Given the description of an element on the screen output the (x, y) to click on. 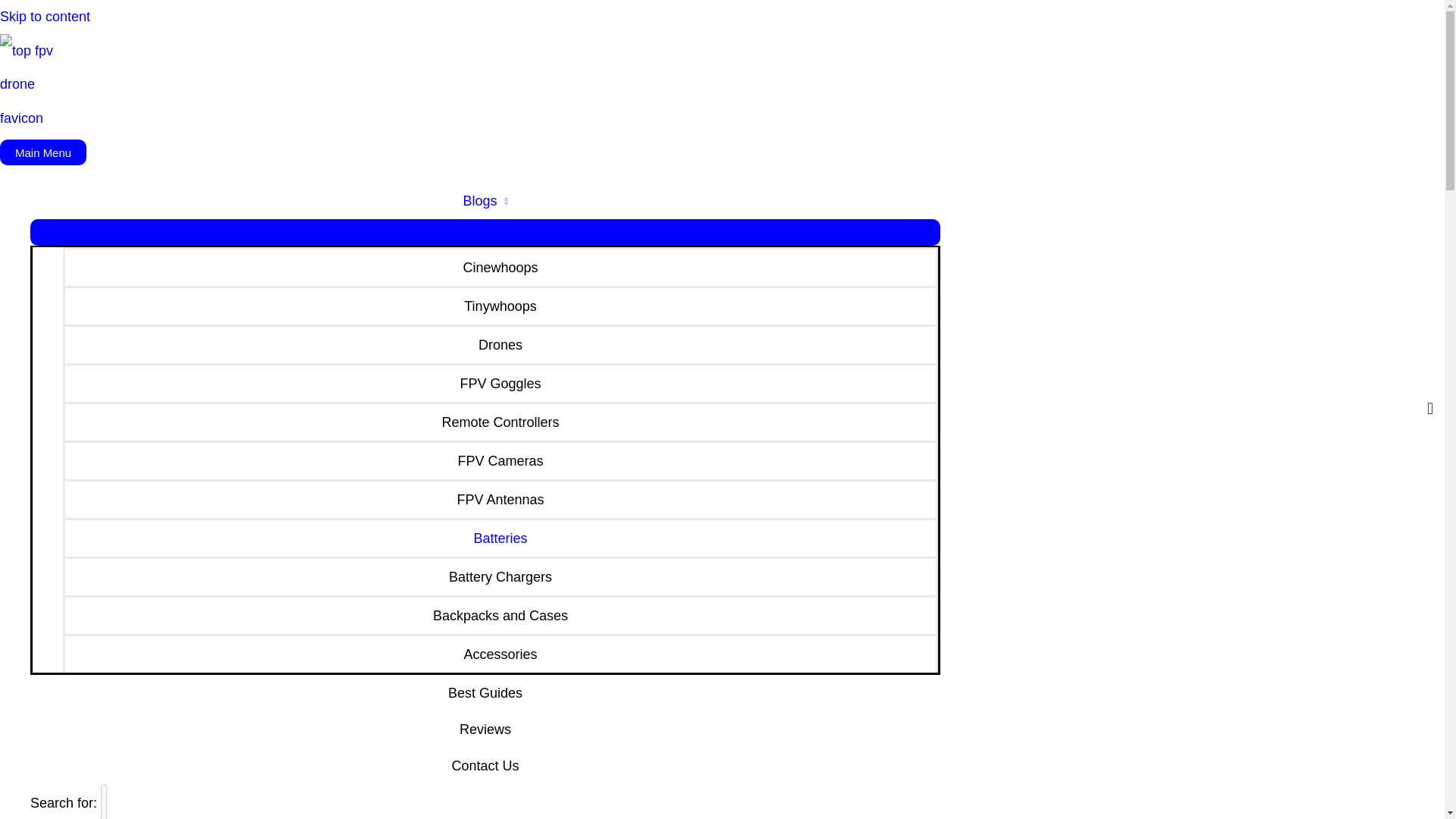
Reviews (485, 729)
FPV Antennas (499, 498)
Accessories (499, 652)
Menu Toggle (485, 232)
Contact Us (485, 765)
Remote Controllers (499, 421)
FPV Goggles (499, 382)
Skip to content (45, 16)
Backpacks and Cases (499, 614)
Batteries (499, 536)
FPV Cameras (499, 459)
Drones (499, 343)
Blogs (485, 200)
Skip to content (45, 16)
Main Menu (42, 152)
